Given the description of an element on the screen output the (x, y) to click on. 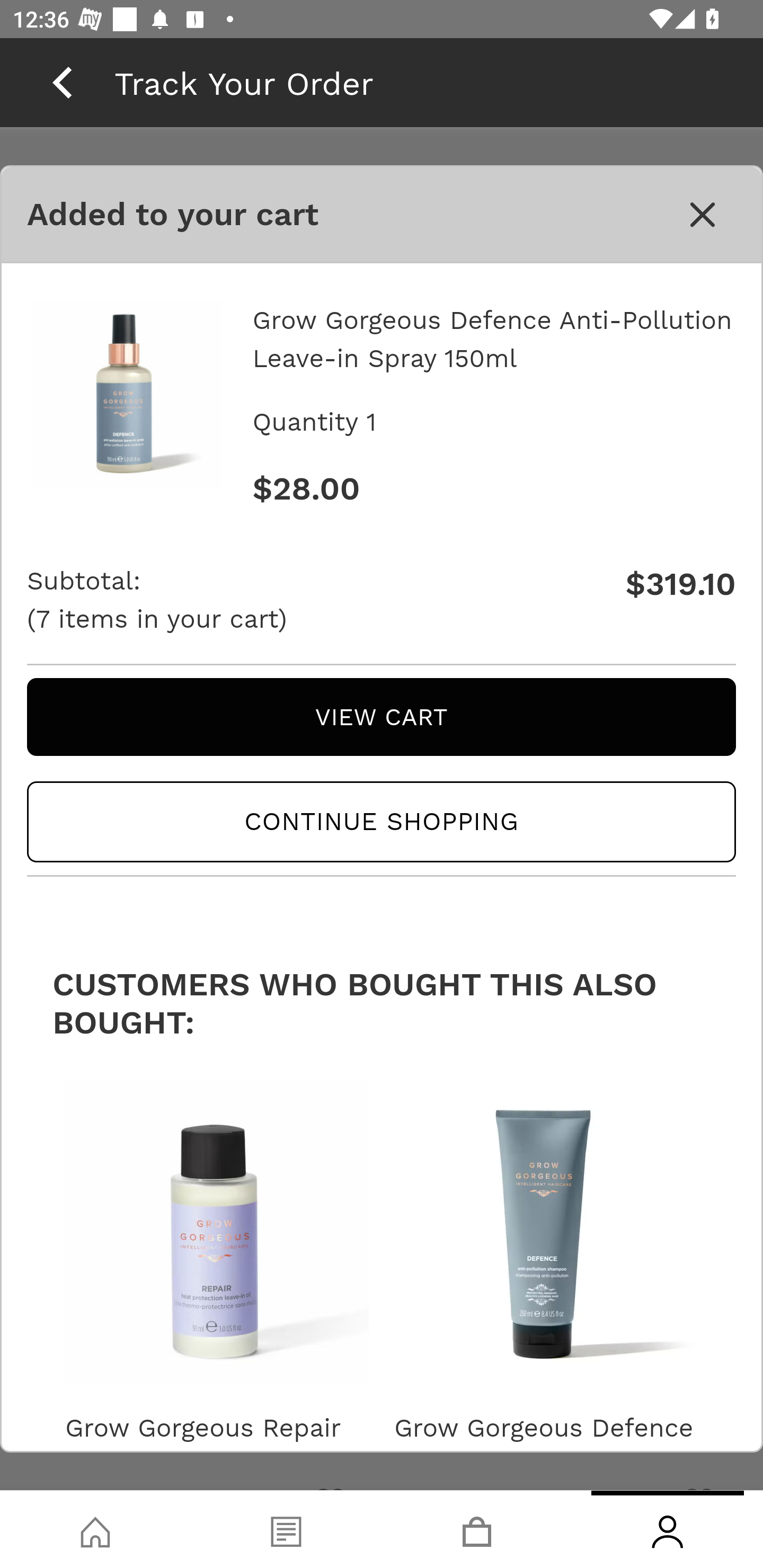
back (61, 82)
Close (702, 214)
VIEW CART (381, 716)
CONTINUE SHOPPING (381, 821)
Grow Gorgeous Repair Leave-in Oil Mini 30ml (216, 1443)
Grow Gorgeous Defence Anti-Pollution Shampoo 250ml (546, 1443)
Shop, tab, 1 of 4 (95, 1529)
Blog, tab, 2 of 4 (285, 1529)
Basket, tab, 3 of 4 (476, 1529)
Account, tab, 4 of 4 (667, 1529)
